Given the description of an element on the screen output the (x, y) to click on. 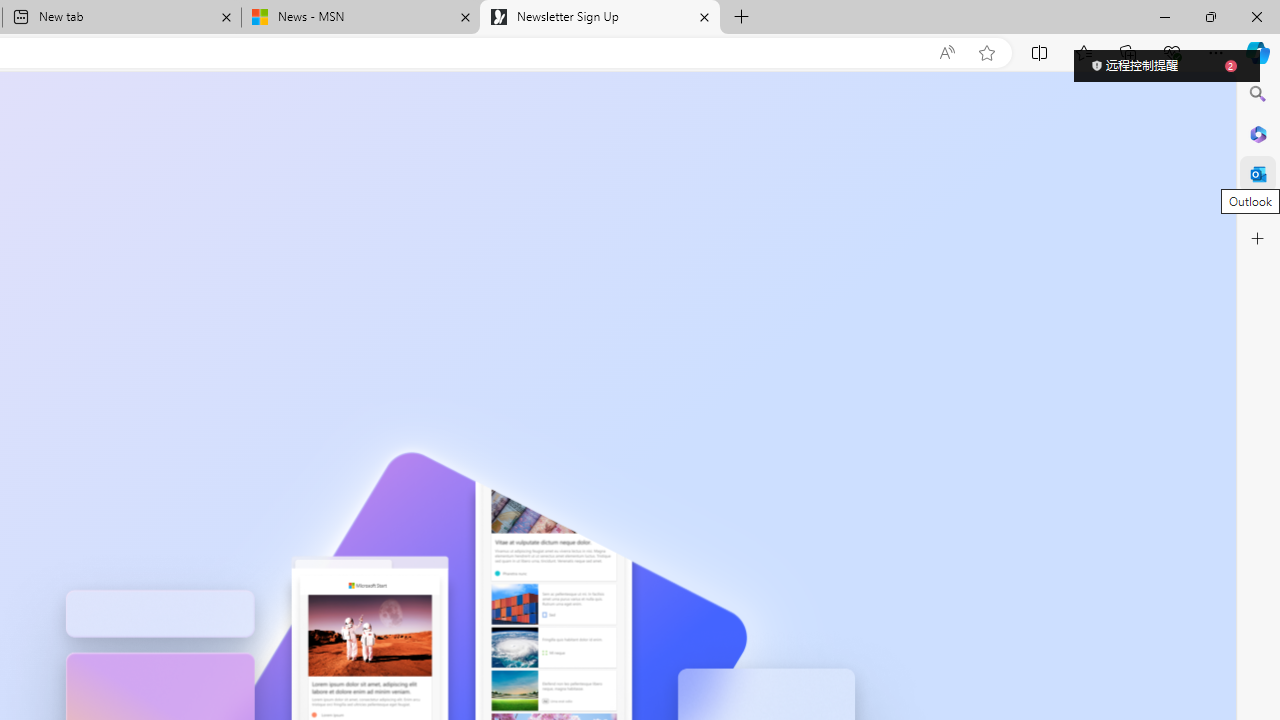
Newsletter Sign Up (600, 17)
News - MSN (360, 17)
